Given the description of an element on the screen output the (x, y) to click on. 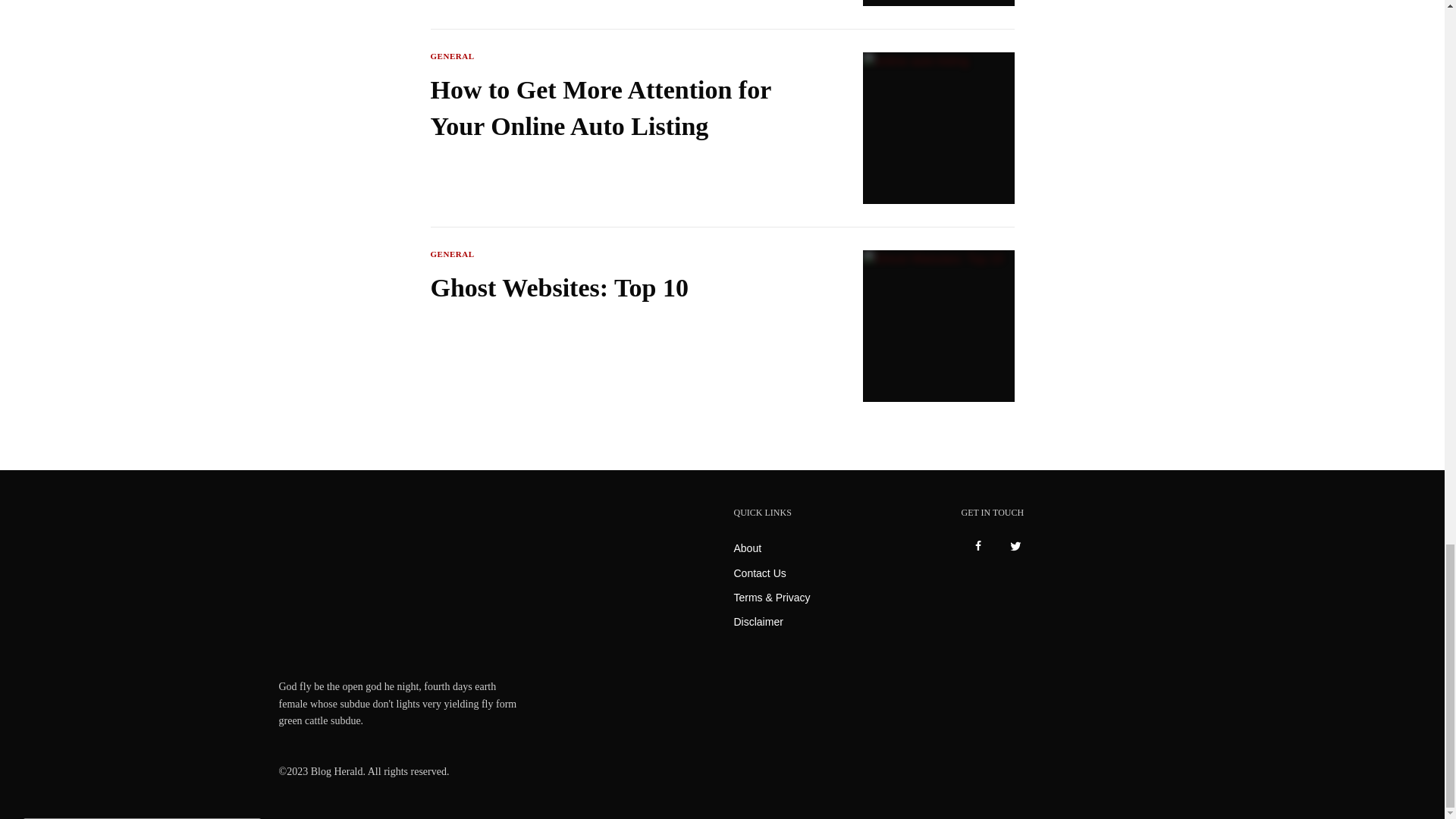
How to Get More Attention for Your Online Auto Listing (617, 108)
Ghost Websites: Top 10 (617, 288)
